Given the description of an element on the screen output the (x, y) to click on. 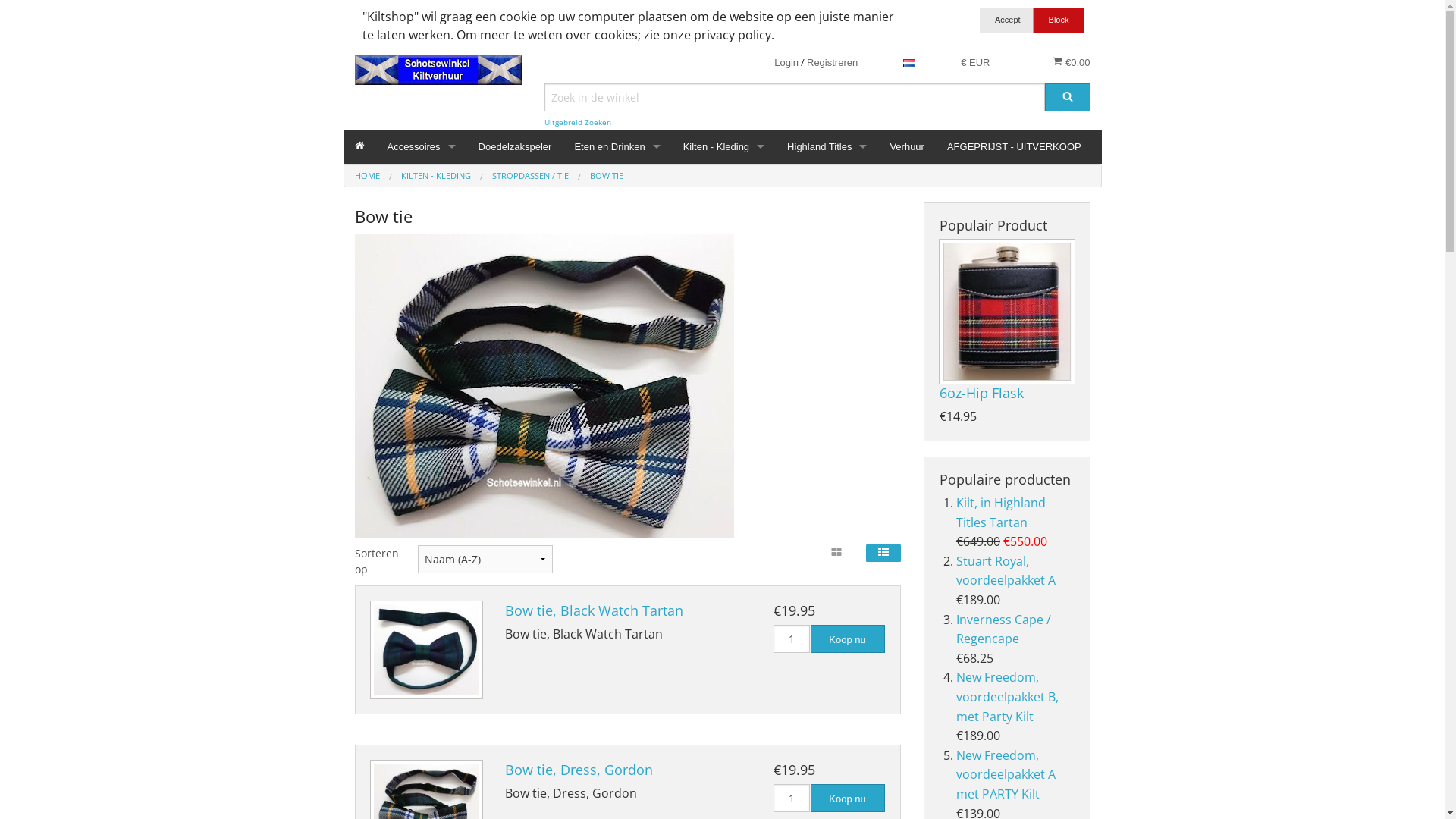
Decoratie Element type: text (421, 268)
Accept Element type: text (1007, 19)
Haggis Element type: text (616, 199)
IRN-BRU Element type: text (616, 233)
Verzenddozen Element type: text (421, 506)
Zoeken Element type: text (1067, 97)
Shawl - Omslagdoek - Stola Element type: text (723, 506)
Kleding accesssoires Element type: text (421, 199)
Kilt, in Highland Titles Tartan Element type: text (1000, 512)
BOW TIE Element type: text (606, 175)
Accessoires Element type: text (421, 146)
Jacket Element type: text (723, 336)
Highland Titles Element type: text (826, 146)
Eten en Drinken Element type: text (616, 146)
Dutch Football Tartan Element type: text (723, 268)
Home Element type: hover (358, 146)
Bow tie, Dress, Gordon Element type: text (578, 769)
HOME Element type: text (366, 175)
Login Element type: text (786, 62)
Trousers_Tartan Element type: text (723, 643)
Doedelzakspeler Element type: text (515, 146)
Cape Element type: text (723, 233)
New Freedom, voordeelpakket A met PARTY Kilt Element type: text (1005, 774)
Tammy Element type: text (723, 575)
6oz-Hip Flask Element type: text (980, 392)
Boxer shorts Element type: text (723, 199)
Tartan Element type: text (723, 609)
Overhemd Element type: text (723, 472)
AFGEPRIJST - UITVERKOOP Element type: text (1013, 146)
Vest - Waistcoat Element type: text (723, 677)
Verhuur Element type: text (906, 146)
Whisky Element type: text (616, 302)
Inverness Cape / Regencape Element type: text (1003, 629)
Schoenen Element type: text (421, 404)
STROPDASSEN / TIE Element type: text (529, 175)
Uitgebreid Zoeken Element type: text (577, 122)
Dutch Friendship Tartan producten Element type: text (723, 302)
Registreren Element type: text (831, 62)
Mokken Element type: text (616, 268)
Sorteren Element type: text (31, 10)
Kilten - Kleding Element type: text (723, 146)
Koop nu Element type: text (846, 638)
Sieraden Element type: text (421, 438)
Kilten Element type: text (723, 404)
Kousen Element type: text (723, 438)
Sleutelhanger Element type: text (421, 472)
New Freedom, voordeelpakket B, met Party Kilt Element type: text (1007, 696)
Mondkapjes Element type: text (421, 336)
Highland Titles accessoires Element type: text (826, 199)
Bow tie, Black Watch Tartan Element type: hover (425, 649)
Bow tie, Black Watch Tartan Element type: text (594, 610)
Jacobite shirt Element type: text (723, 370)
6oz-Hip Flask Element type: hover (1005, 311)
Stropdassen / Tie Element type: text (723, 541)
Doedelzak benodigdheden Element type: text (421, 302)
Collector items en Curiosa Element type: text (421, 233)
Plaid - Blanket Element type: text (421, 370)
Block Element type: text (1058, 19)
KILTEN - KLEDING Element type: text (435, 175)
Stuart Royal, voordeelpakket A Element type: text (1005, 570)
Koop nu Element type: text (846, 798)
Dutch Element type: hover (909, 62)
